Given the description of an element on the screen output the (x, y) to click on. 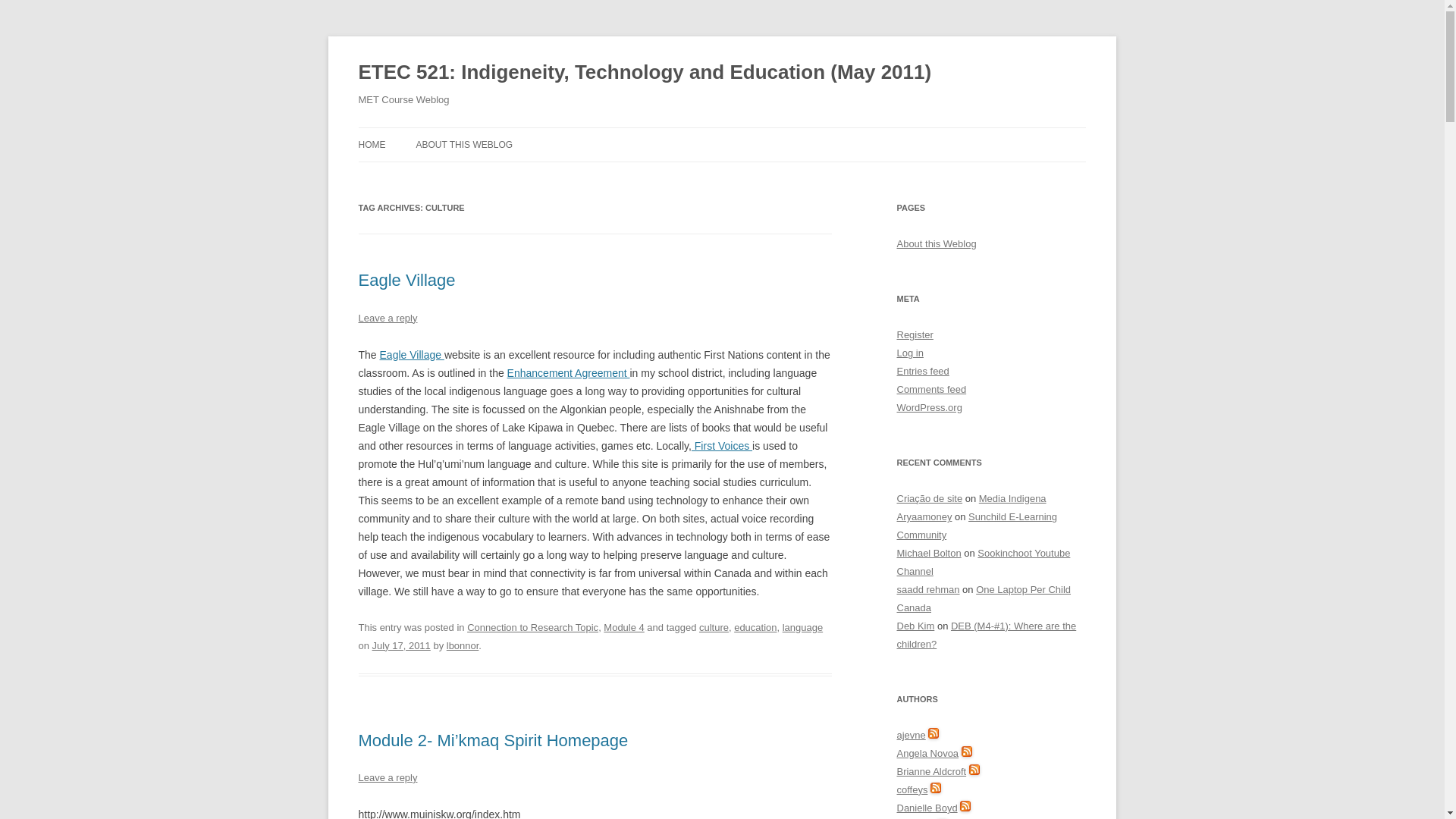
Eagle Village (406, 280)
Eagle Village (412, 354)
First Voices (721, 445)
lbonnor (462, 645)
10:36 am (401, 645)
language (802, 627)
Module 4 (623, 627)
Leave a reply (387, 777)
culture (713, 627)
Connection to Research Topic (532, 627)
